Given the description of an element on the screen output the (x, y) to click on. 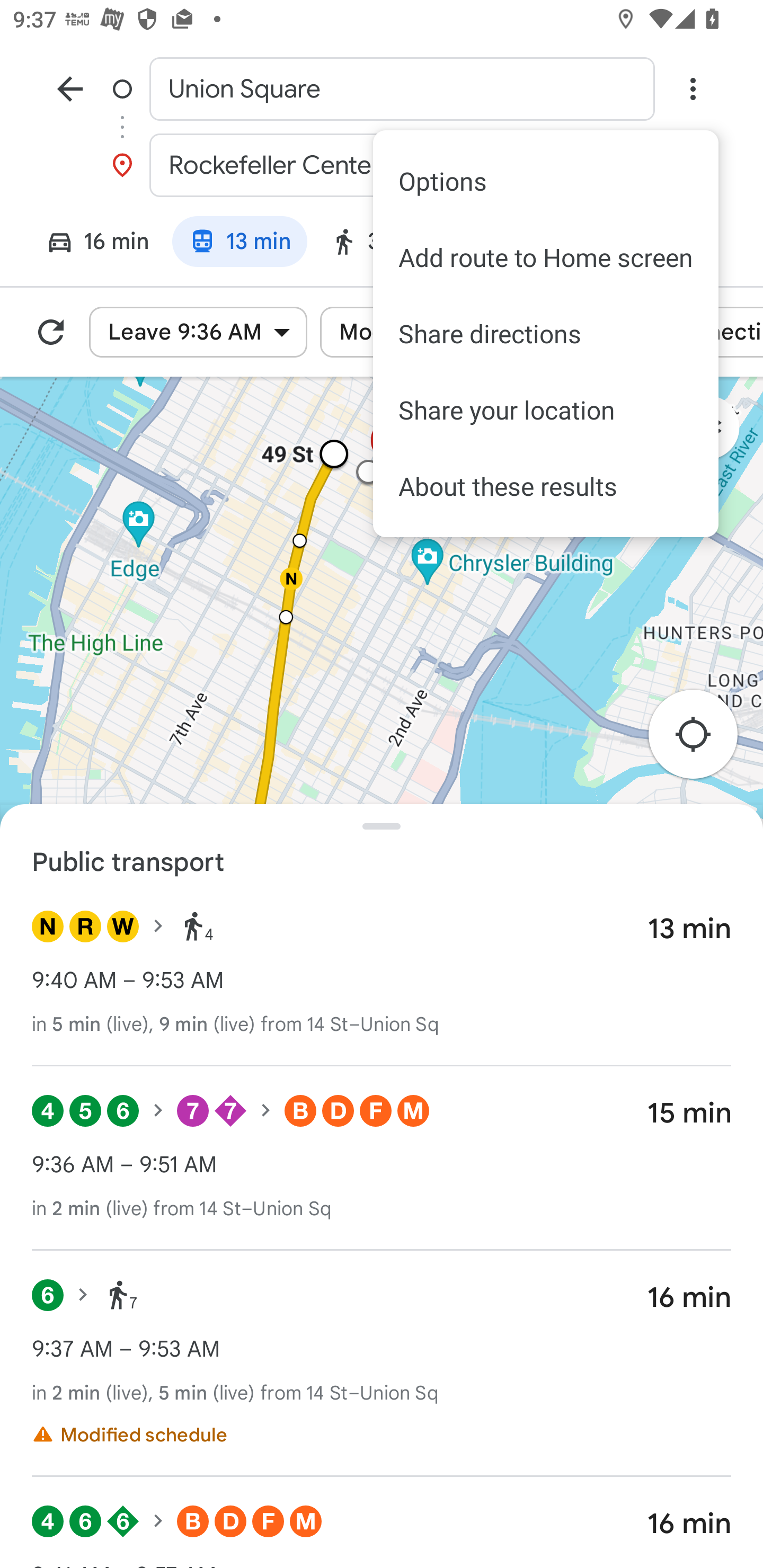
Options (545, 180)
Add route to Home screen (545, 257)
Share directions (545, 333)
Share your location (545, 409)
About these results (545, 485)
